Given the description of an element on the screen output the (x, y) to click on. 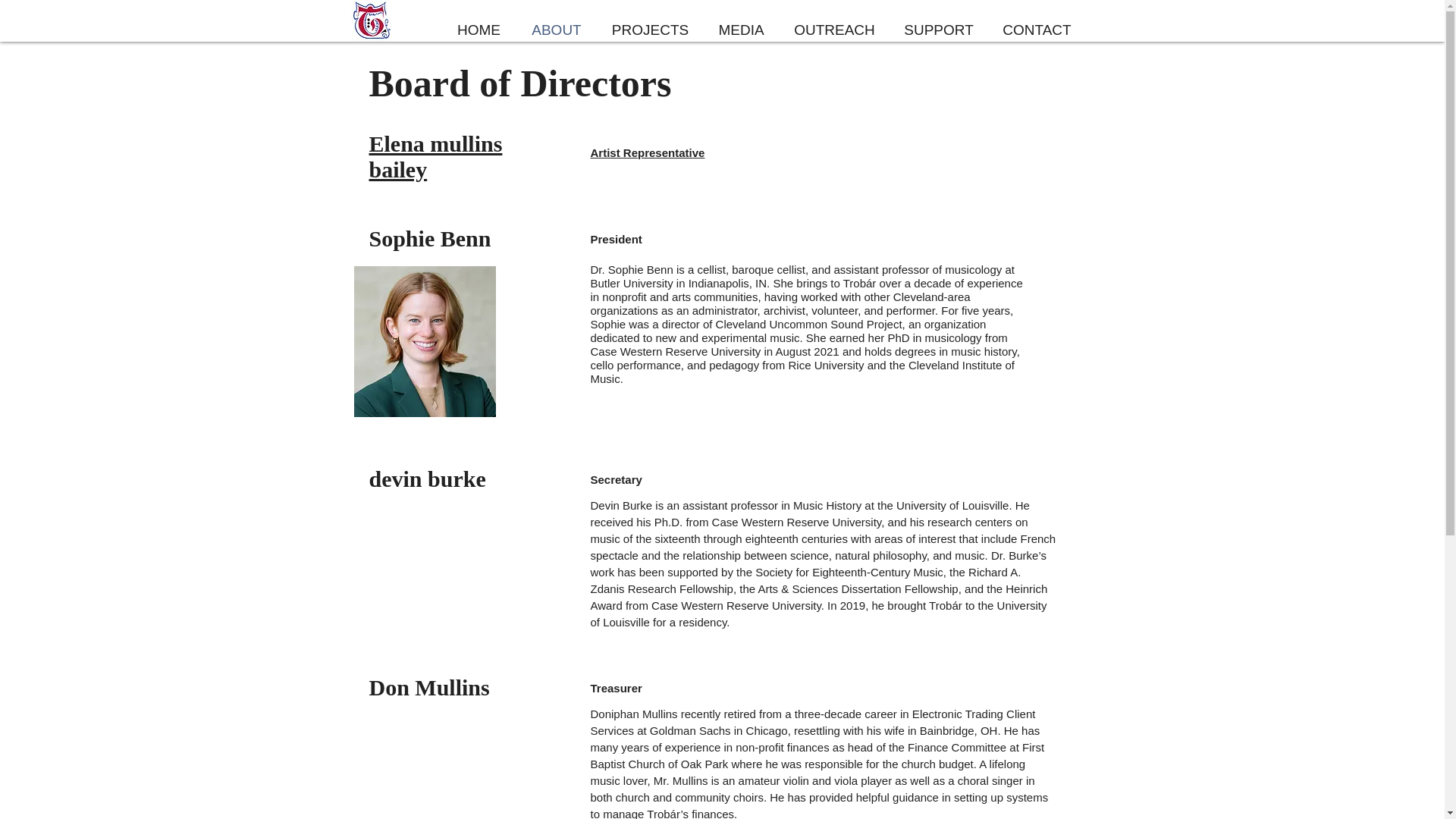
Artist Representative (646, 152)
HOME (478, 29)
ABOUT (555, 29)
MEDIA (740, 29)
CONTACT (1036, 29)
PROJECTS (649, 29)
SUPPORT (938, 29)
OUTREACH (833, 29)
Elena mullins bailey (435, 156)
